Given the description of an element on the screen output the (x, y) to click on. 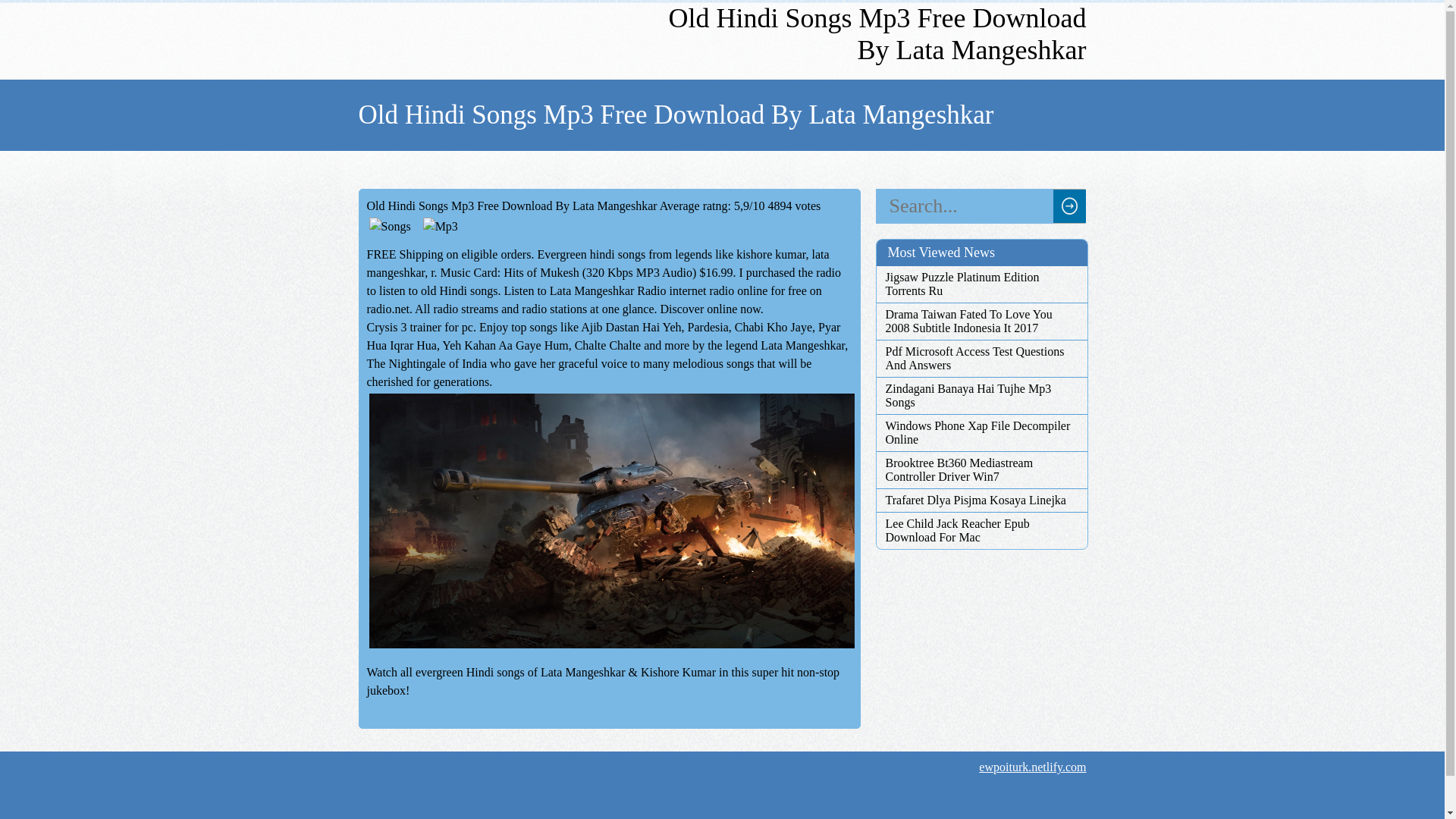
Windows Phone Xap File Decompiler Online (981, 432)
Trafaret Dlya Pisjma Kosaya Linejka (981, 499)
Crysis 3 trainer for pc (419, 327)
Zindagani Banaya Hai Tujhe Mp3 Songs (981, 395)
Lee Child Jack Reacher Epub Download For Mac (981, 530)
Brooktree Bt360 Mediastream Controller Driver Win7 (981, 470)
Mp3 (440, 226)
ewpoiturk.netlify.com (1032, 766)
Jigsaw Puzzle Platinum Edition Torrents Ru (981, 284)
Pdf Microsoft Access Test Questions And Answers (981, 358)
Songs (389, 226)
